Given the description of an element on the screen output the (x, y) to click on. 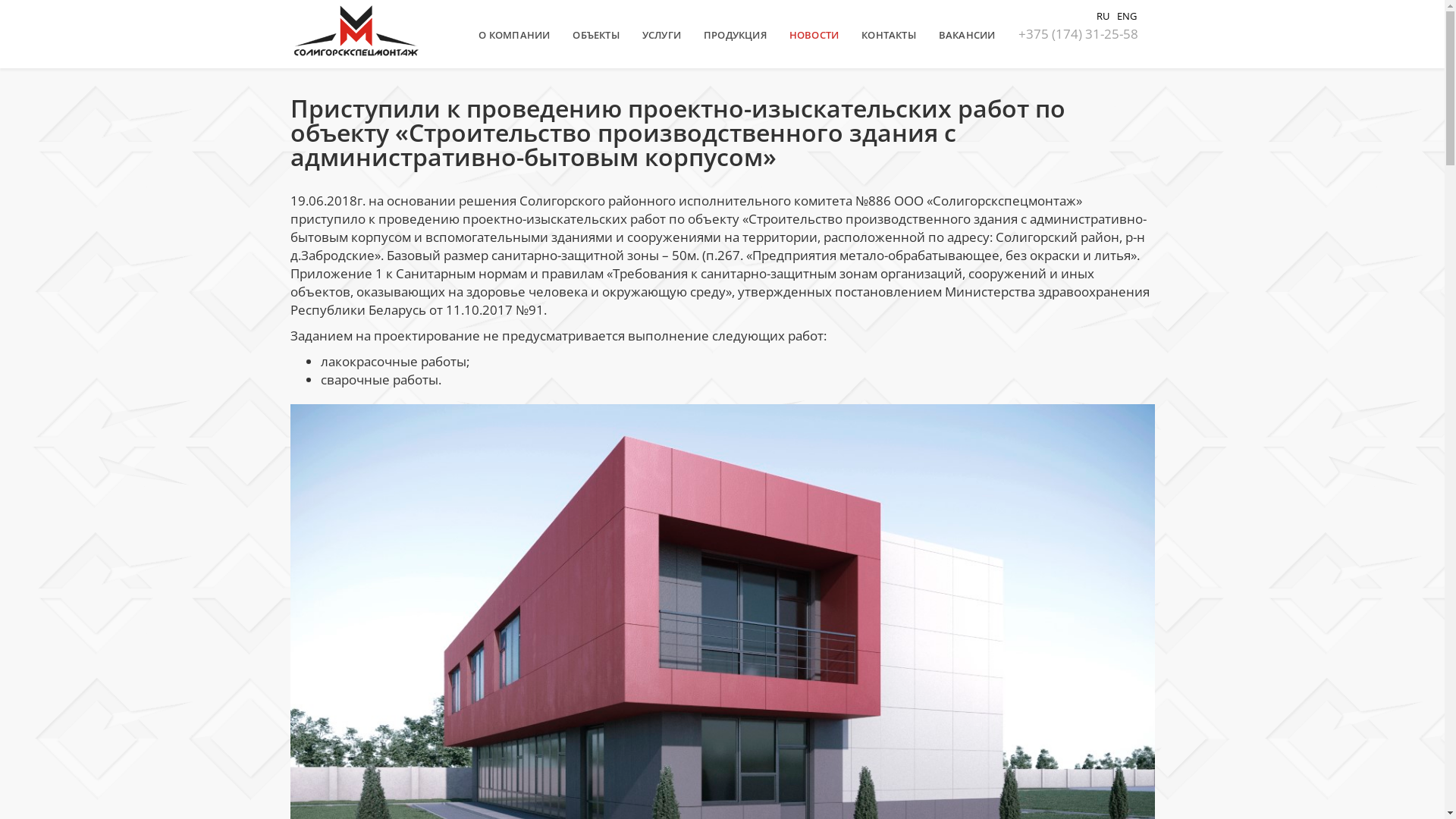
RU Element type: text (1102, 15)
ENG Element type: text (1125, 15)
+375 (174) 31-25-58 Element type: text (1077, 33)
